Given the description of an element on the screen output the (x, y) to click on. 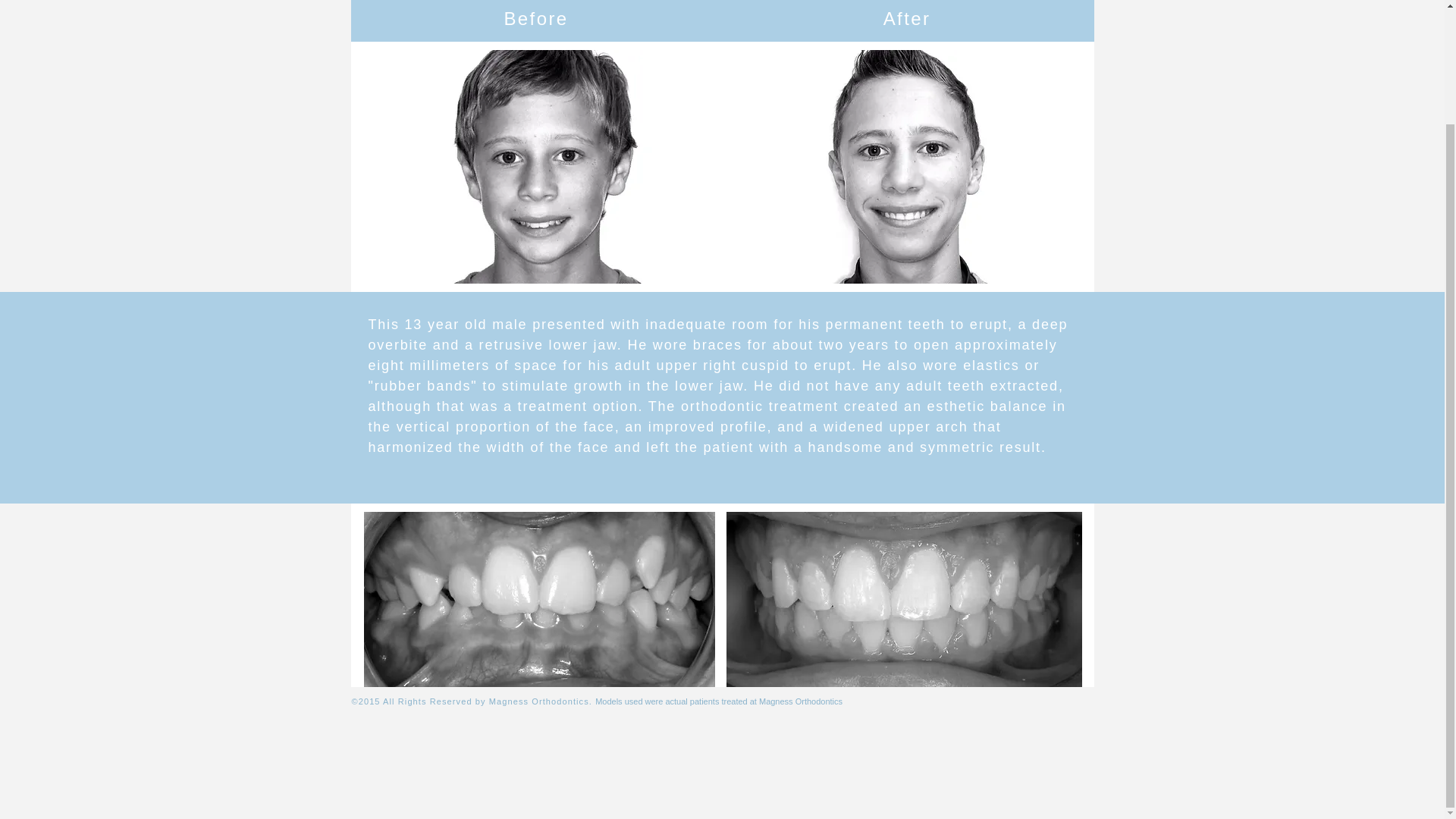
Connor Sloan Final CenterAfter.jpg (903, 599)
Connor Sloan Final Frontal SmileAfter.jpg (903, 166)
Connor Sloan Initial CenterBefore.jpg (539, 599)
